Given the description of an element on the screen output the (x, y) to click on. 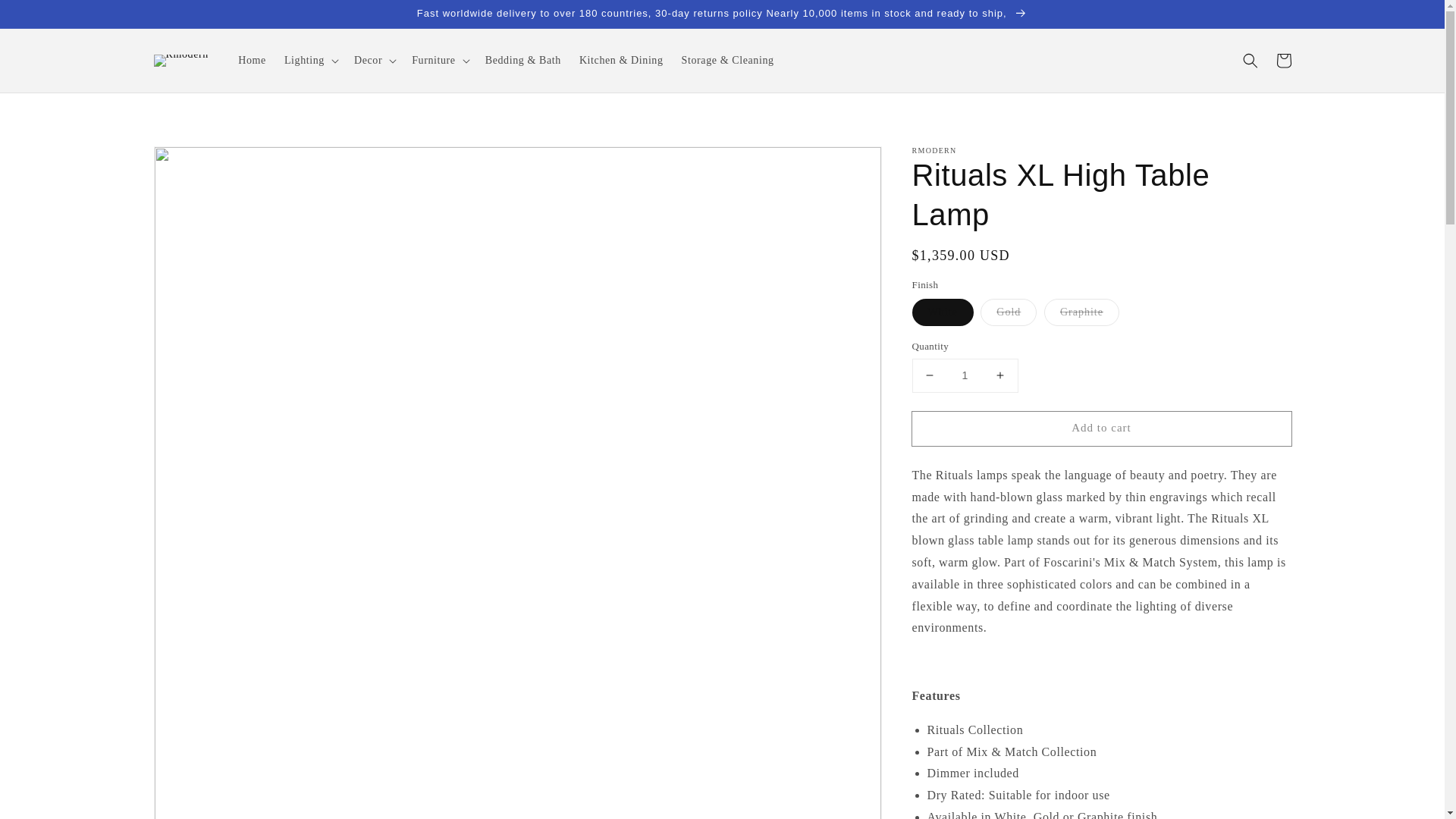
Skip to content (45, 16)
1 (964, 375)
Home (251, 60)
